Given the description of an element on the screen output the (x, y) to click on. 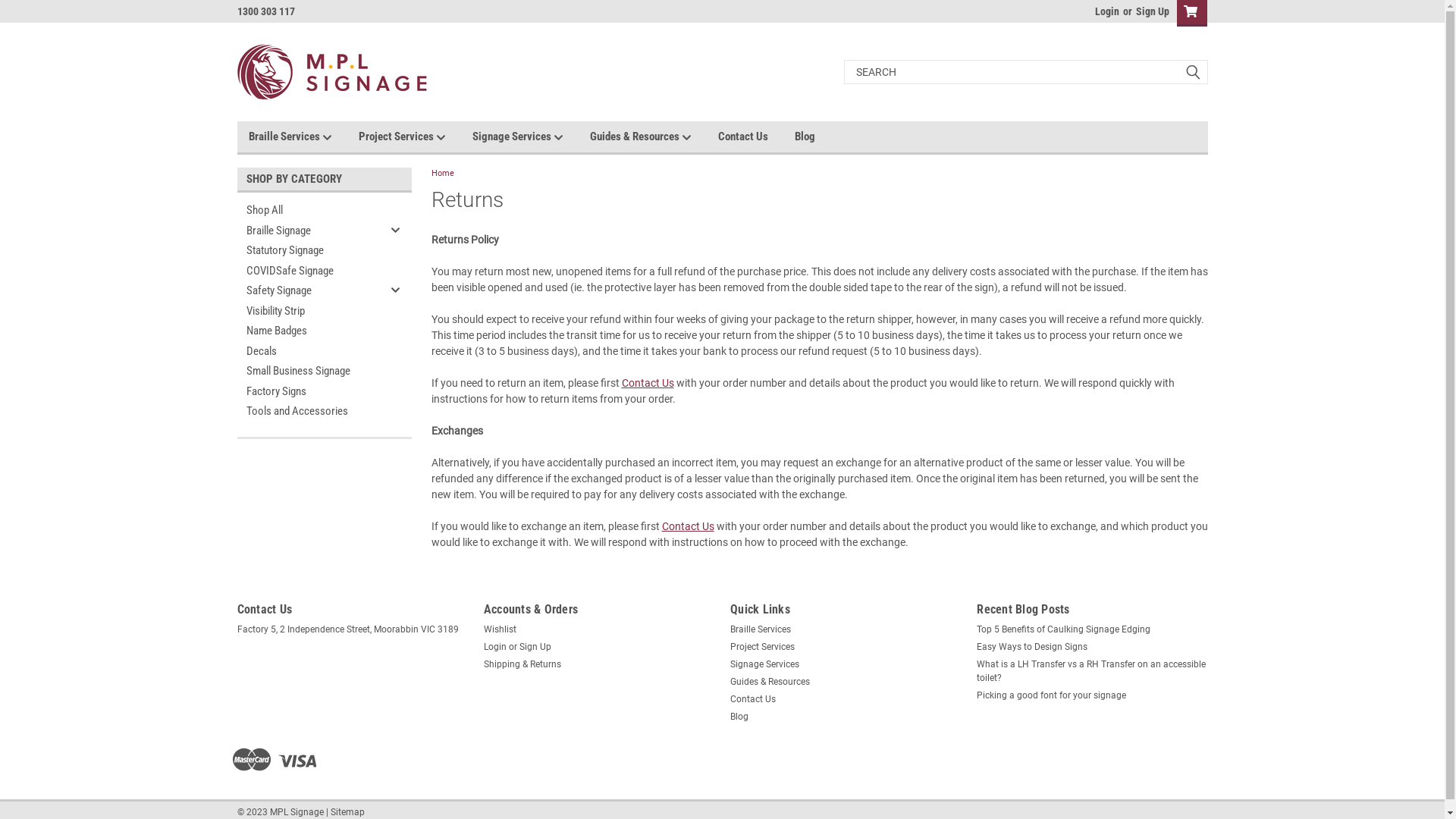
Guides & Resources Element type: text (769, 681)
Contact Us Element type: text (647, 382)
Braille Services Element type: text (760, 628)
COVIDSafe Signage Element type: text (310, 270)
Sign Up Element type: text (1149, 11)
Statutory Signage Element type: text (310, 250)
Blog Element type: text (739, 716)
Factory Signs Element type: text (310, 390)
Project Services Element type: text (762, 646)
Picking a good font for your signage Element type: text (1051, 695)
Shipping & Returns Element type: text (522, 663)
Login Element type: text (1107, 11)
MPL Signage Element type: hover (331, 71)
Login Element type: text (494, 646)
Home Element type: text (441, 173)
Wishlist Element type: text (499, 628)
Contact Us Element type: text (755, 136)
Easy Ways to Design Signs Element type: text (1031, 646)
Shop All Element type: text (310, 210)
Top 5 Benefits of Caulking Signage Edging Element type: text (1063, 628)
Signage Services Element type: text (764, 663)
Sign Up Element type: text (535, 646)
Tools and Accessories Element type: text (310, 411)
Name Badges Element type: text (310, 330)
Blog Element type: text (817, 136)
Guides & Resources Element type: text (653, 136)
Small Business Signage Element type: text (310, 370)
Decals Element type: text (310, 351)
Project Services Element type: text (414, 136)
Sitemap Element type: text (347, 811)
Braille Signage Element type: text (310, 229)
submit Element type: hover (1191, 71)
Signage Services Element type: text (530, 136)
Safety Signage Element type: text (310, 290)
Contact Us Element type: text (687, 526)
Visibility Strip Element type: text (310, 310)
Contact Us Element type: text (752, 698)
Braille Services Element type: text (303, 136)
